Given the description of an element on the screen output the (x, y) to click on. 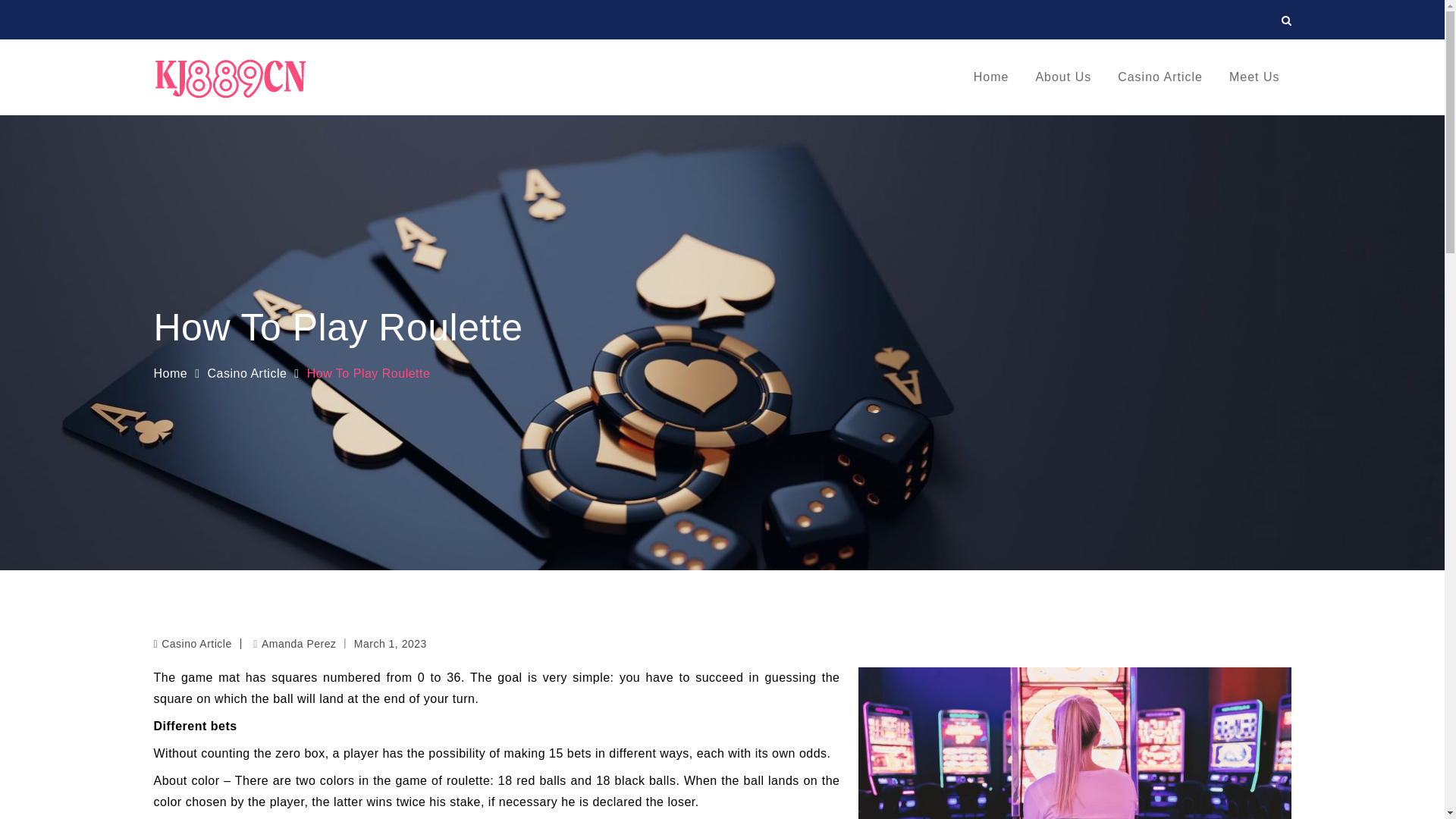
Meet Us (1254, 77)
Kj889cn (339, 91)
March 1, 2023 (389, 643)
Amanda Perez (294, 644)
Casino Article (1160, 77)
Home (169, 373)
Casino Article (247, 373)
About Us (1062, 77)
Casino Article (196, 644)
